Given the description of an element on the screen output the (x, y) to click on. 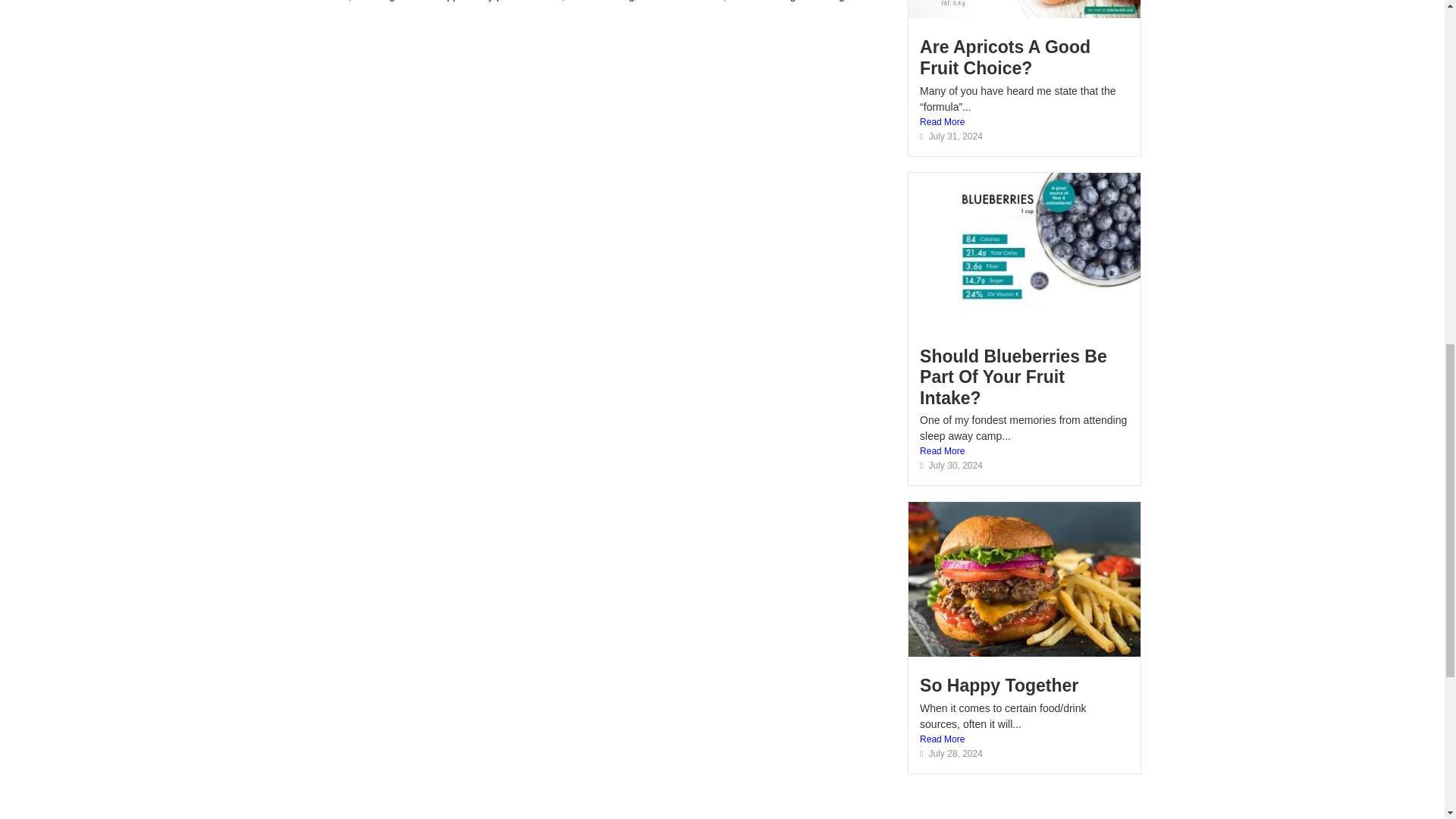
Are Apricots A Good Fruit Choice? (1005, 56)
Should Blueberries Be Part Of Your Fruit Intake? (1013, 376)
So Happy Together (999, 685)
